Given the description of an element on the screen output the (x, y) to click on. 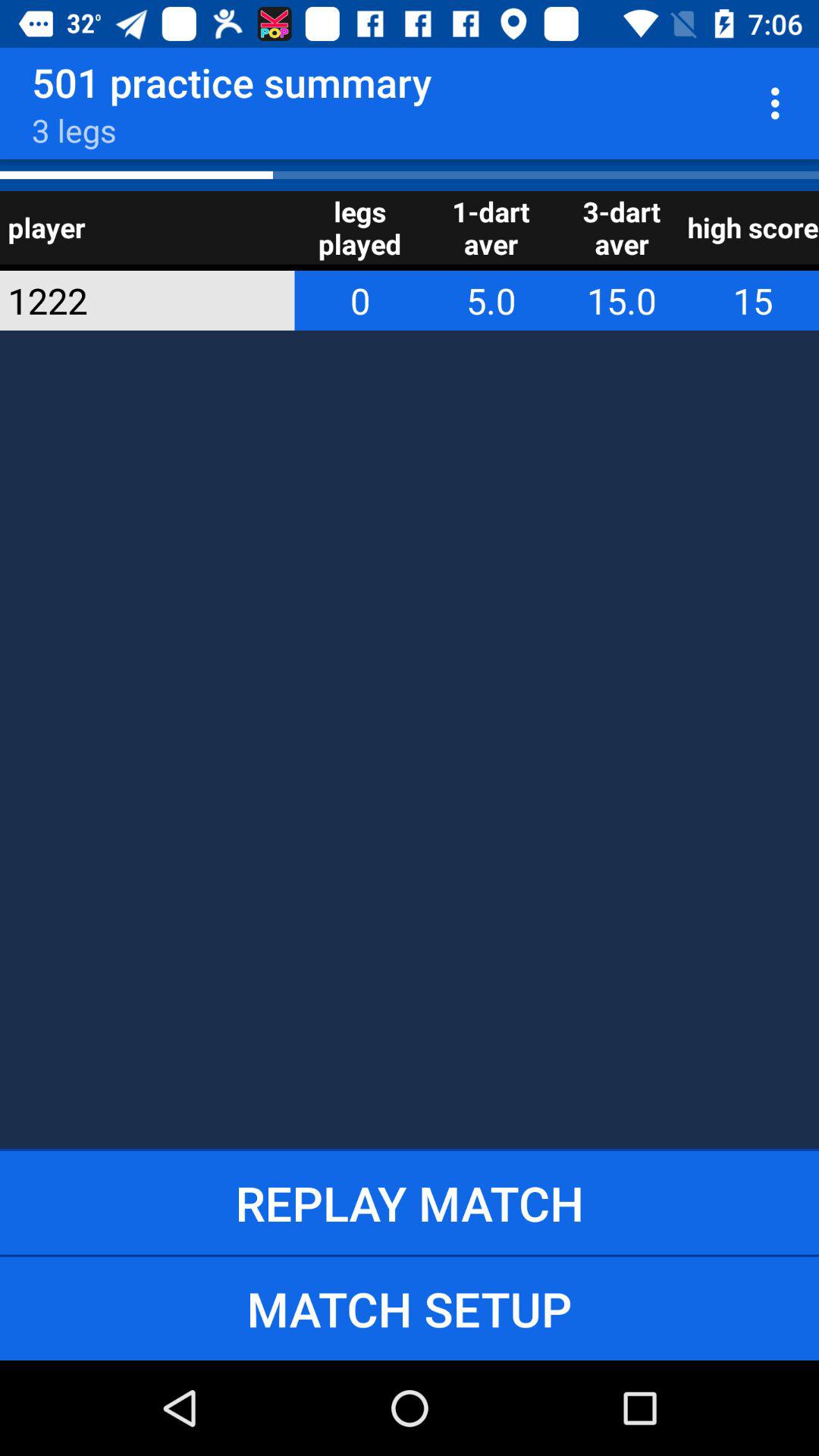
choose item above the match setup icon (409, 1202)
